Given the description of an element on the screen output the (x, y) to click on. 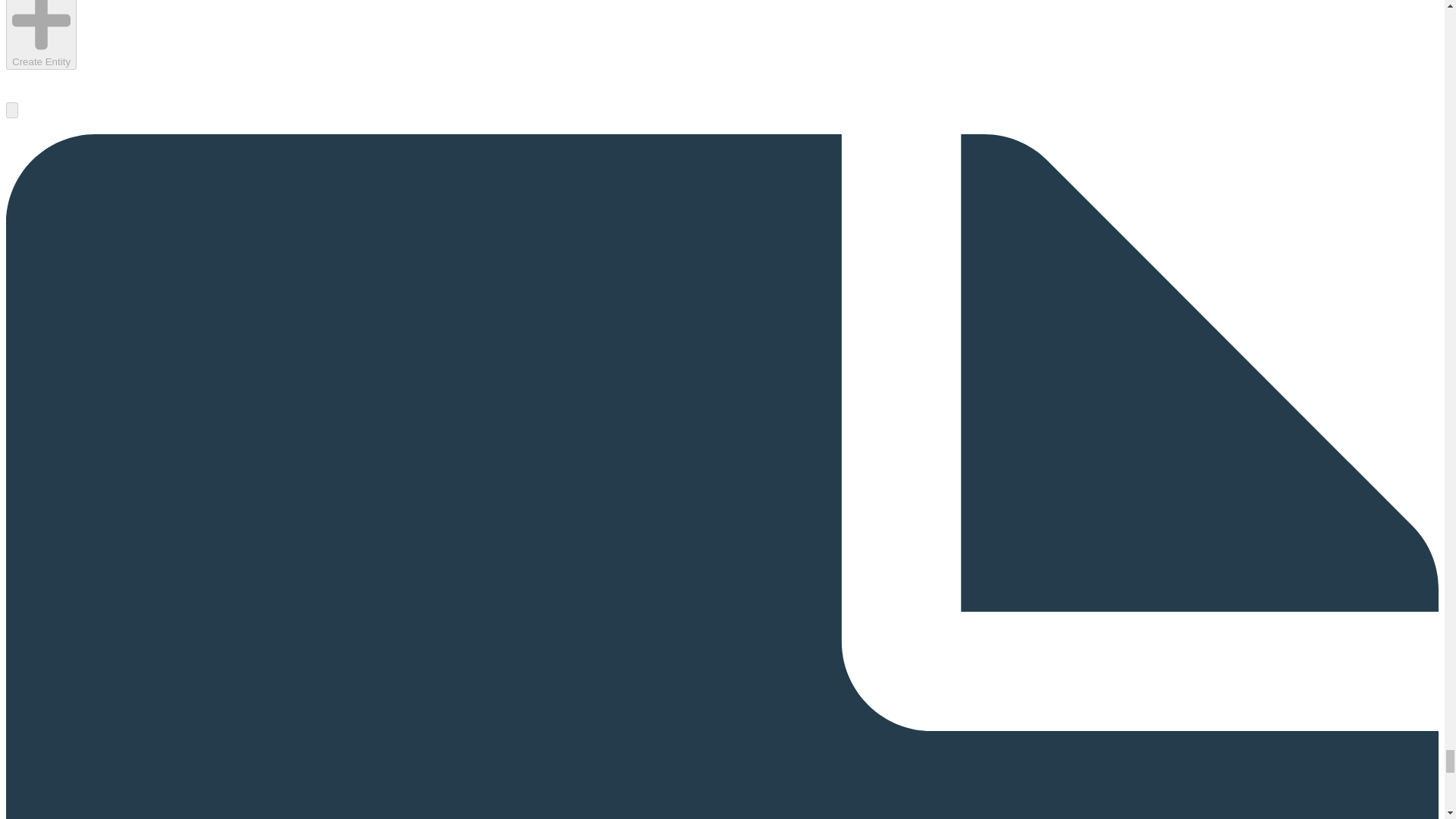
Create Entity (41, 34)
